Given the description of an element on the screen output the (x, y) to click on. 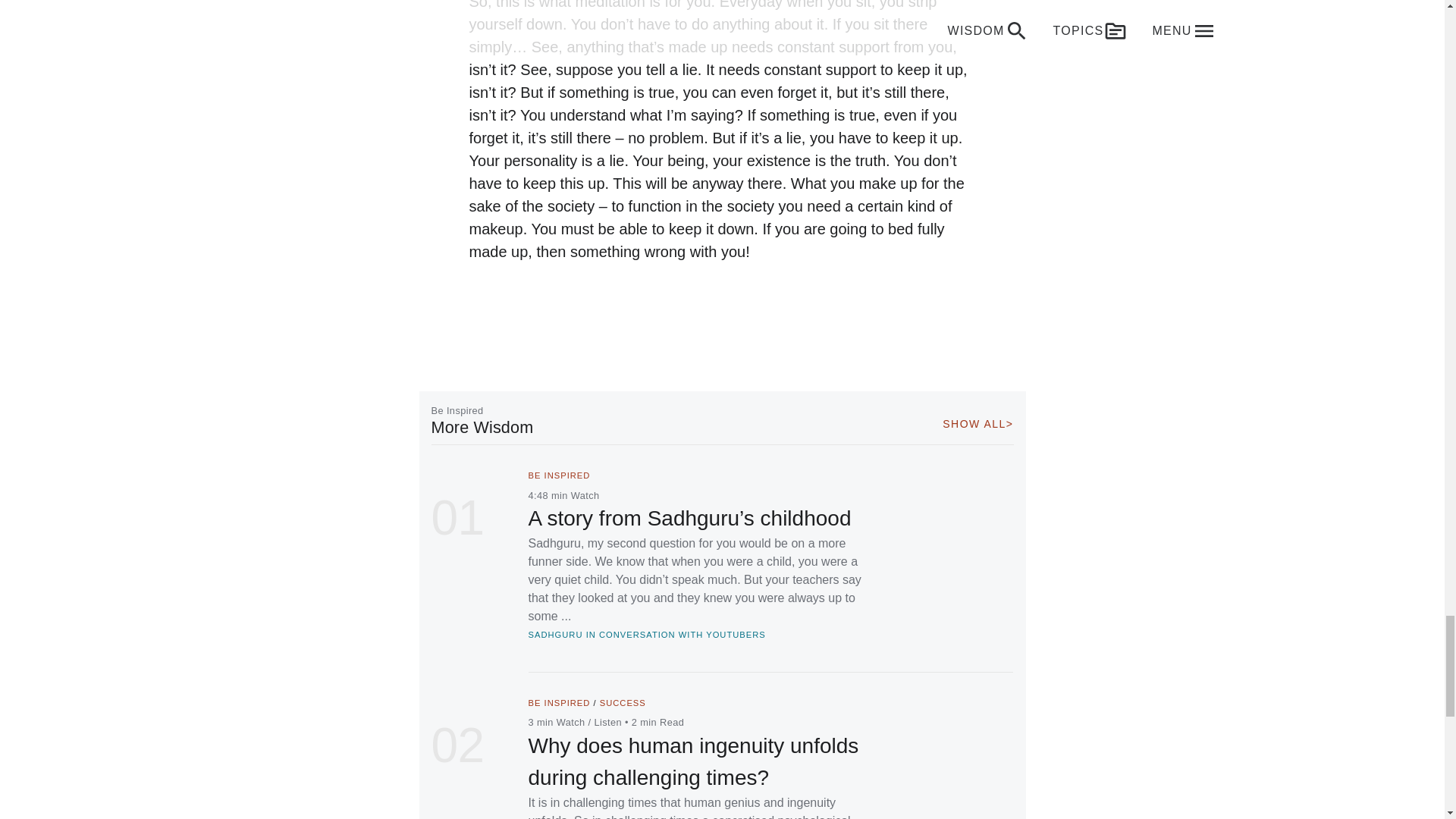
BE INSPIRED (558, 702)
BE INSPIRED (558, 474)
SUCCESS (622, 702)
